Given the description of an element on the screen output the (x, y) to click on. 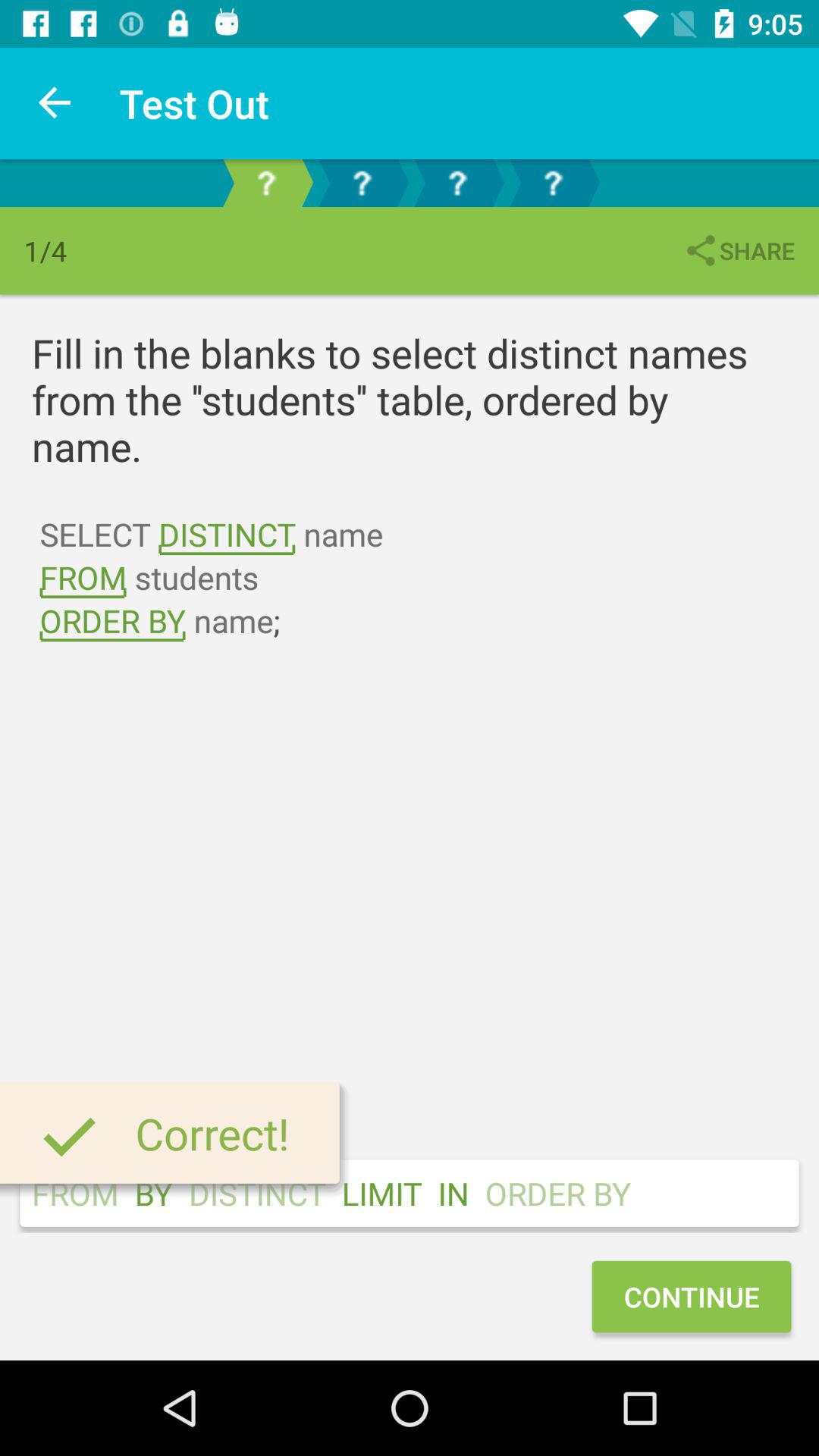
click the item above fill in the item (738, 250)
